Given the description of an element on the screen output the (x, y) to click on. 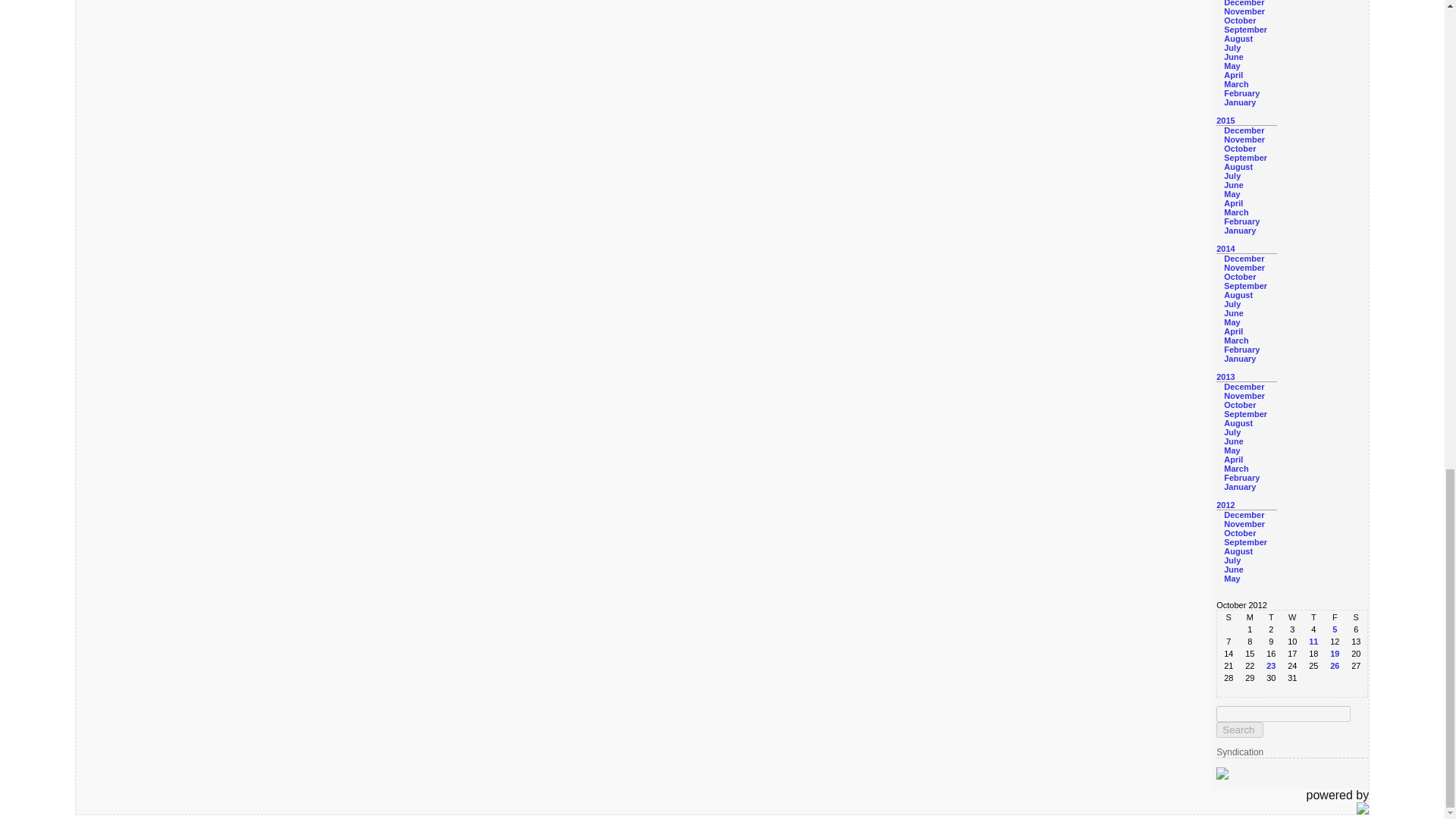
Wednesday (1291, 616)
Saturday (1355, 616)
Monday (1249, 616)
Tuesday (1270, 616)
Thursday (1313, 616)
Friday (1333, 616)
Sunday (1228, 616)
Search  (1239, 729)
